Given the description of an element on the screen output the (x, y) to click on. 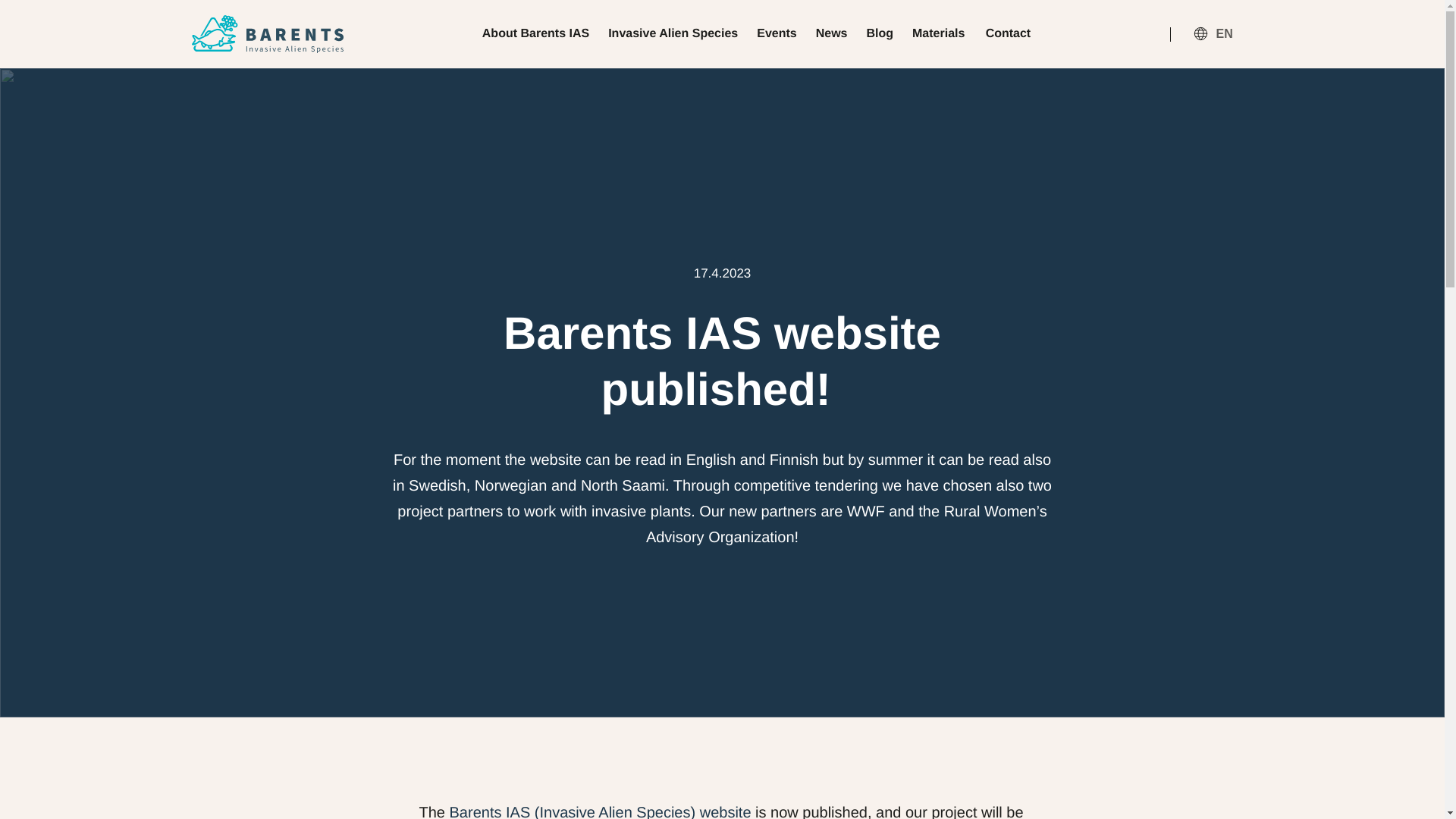
About Barents IAS (535, 33)
News (831, 33)
Invasive Alien Species (673, 33)
Blog (879, 33)
Materials (939, 33)
Events (776, 33)
Barents Invasive Alien Species (266, 34)
Contact (1007, 33)
